Given the description of an element on the screen output the (x, y) to click on. 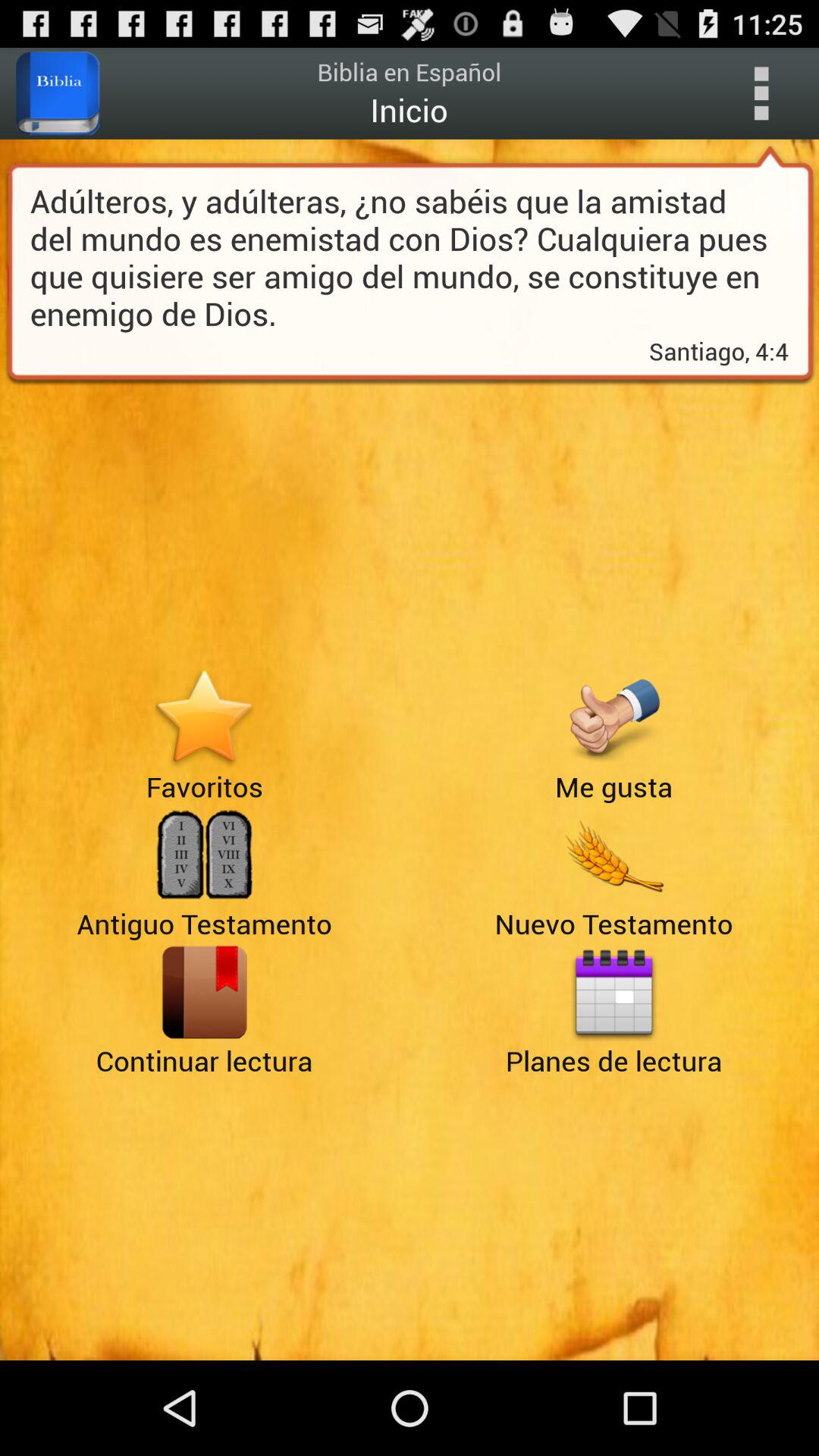
click app above continuar lectura icon (204, 991)
